Given the description of an element on the screen output the (x, y) to click on. 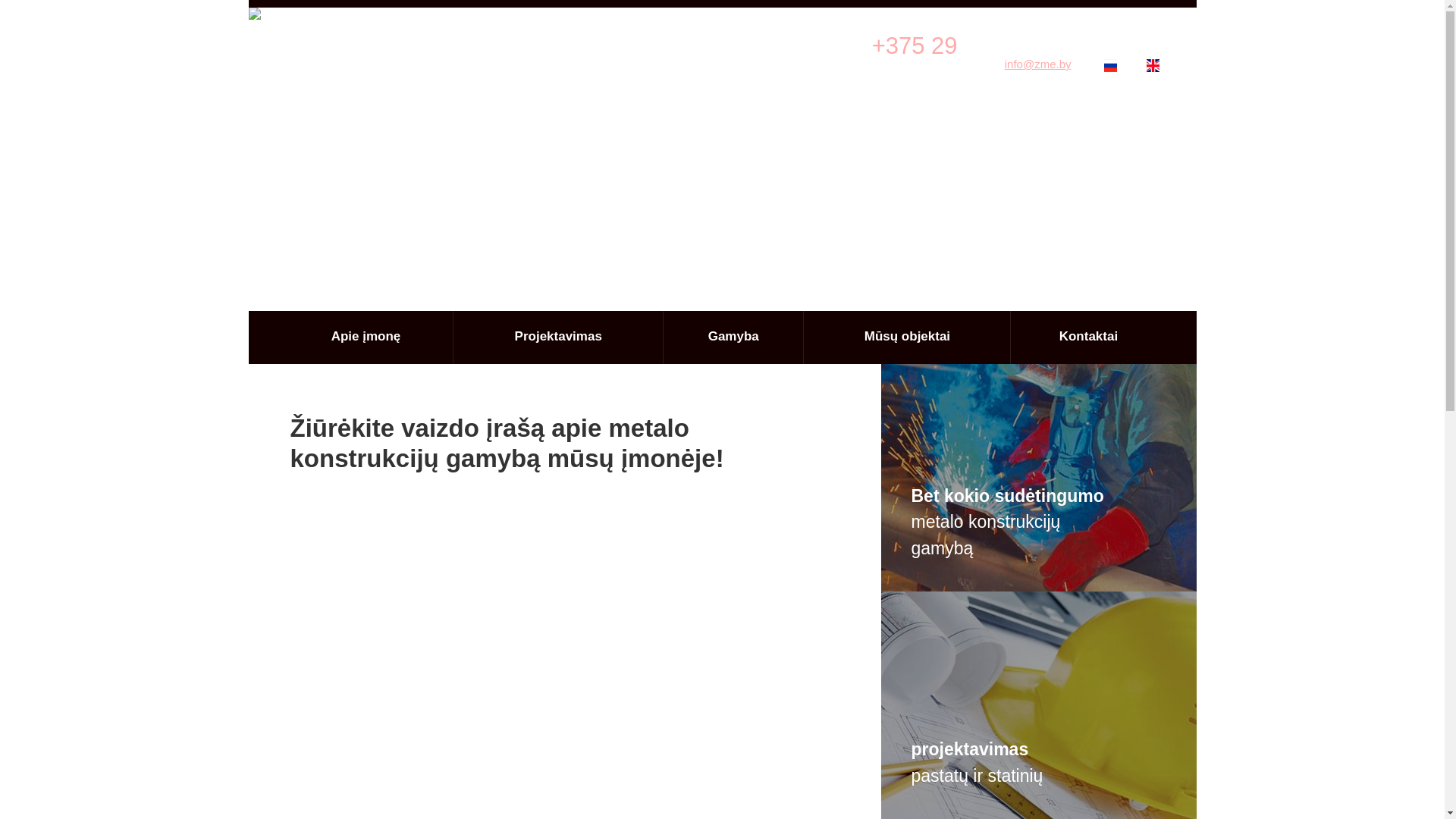
Kontaktai Element type: text (1087, 337)
Projektavimas Element type: text (557, 337)
info@zme.by Element type: text (1037, 63)
Gamyba Element type: text (732, 337)
EN Element type: text (1161, 65)
RU Element type: text (1119, 65)
